Given the description of an element on the screen output the (x, y) to click on. 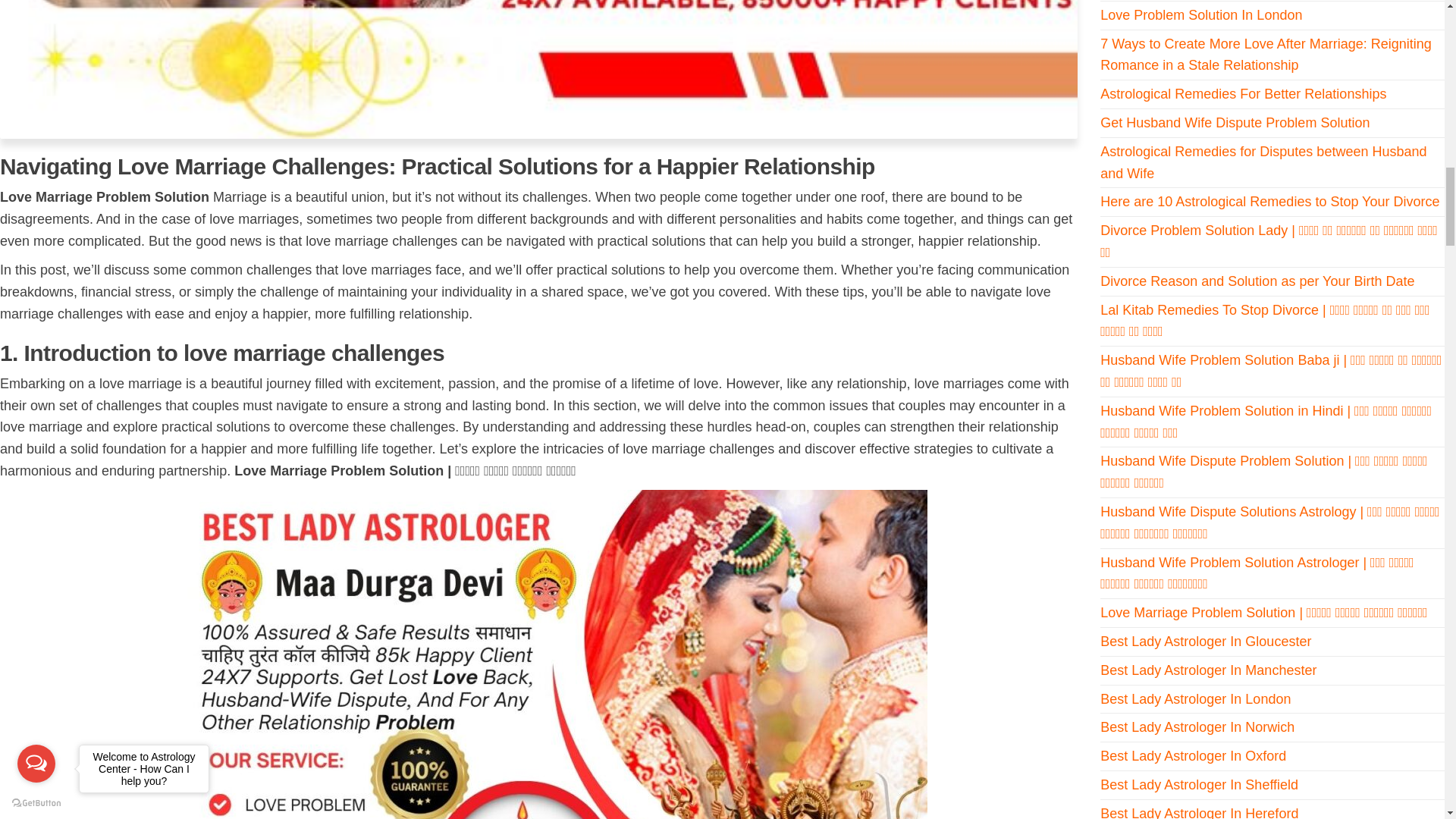
Get Husband Wife Dispute Problem Solution (1235, 122)
Love Problem Solution In London (1200, 14)
Astrological Remedies For Better Relationships (1243, 93)
